Given the description of an element on the screen output the (x, y) to click on. 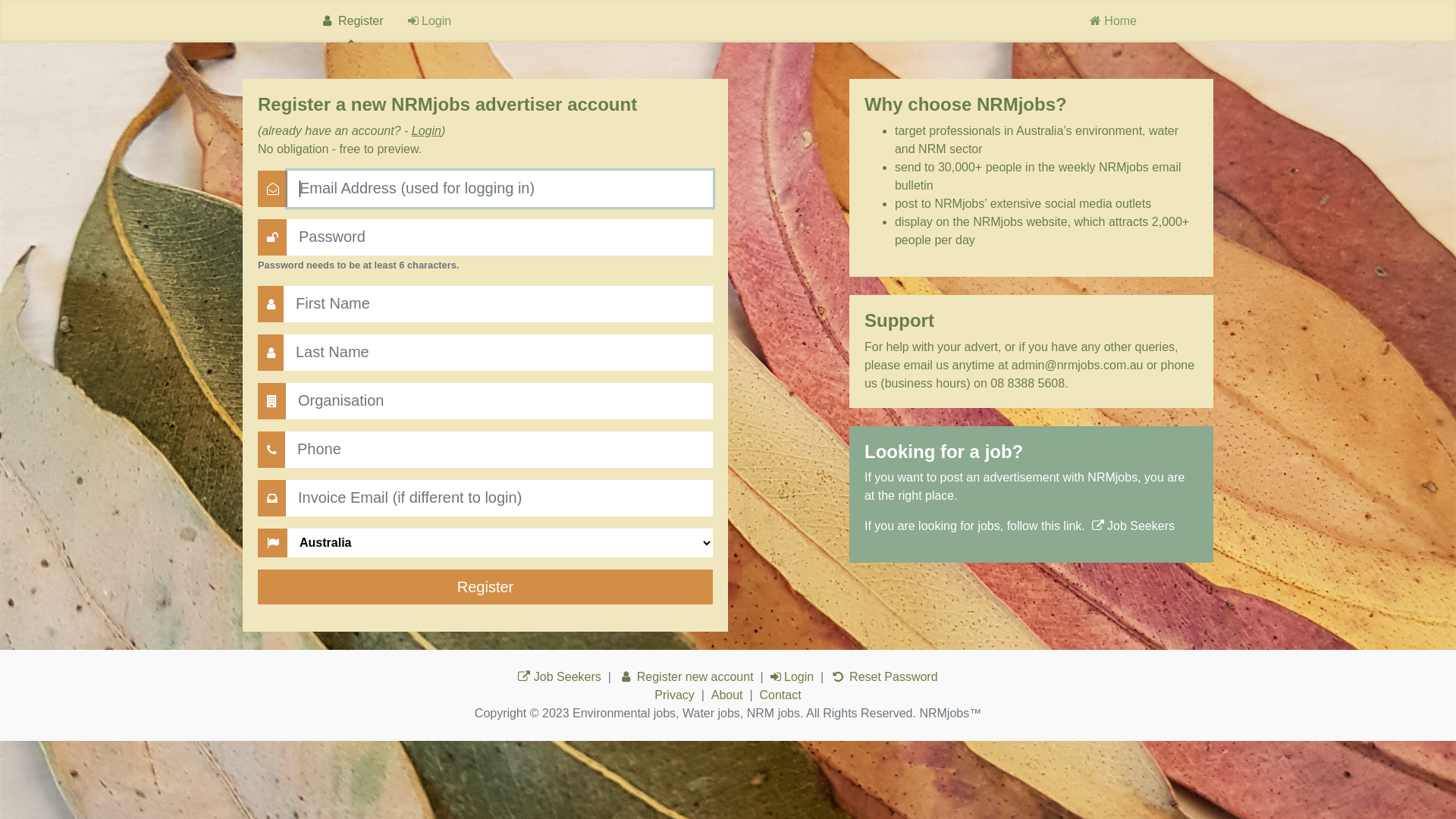
Register Element type: text (484, 586)
Login Element type: text (426, 130)
Privacy Element type: text (673, 694)
 Login Element type: text (429, 21)
 Job Seekers Element type: text (558, 676)
08 8388 5608 Element type: text (1027, 382)
 Login Element type: text (792, 676)
 Register new account Element type: text (685, 676)
 Reset Password Element type: text (884, 676)
Contact Element type: text (780, 694)
About Element type: text (727, 694)
admin@nrmjobs.com.au Element type: text (1077, 364)
 Register Element type: text (351, 21)
 Home Element type: text (1112, 21)
 Job Seekers Element type: text (1133, 525)
